Given the description of an element on the screen output the (x, y) to click on. 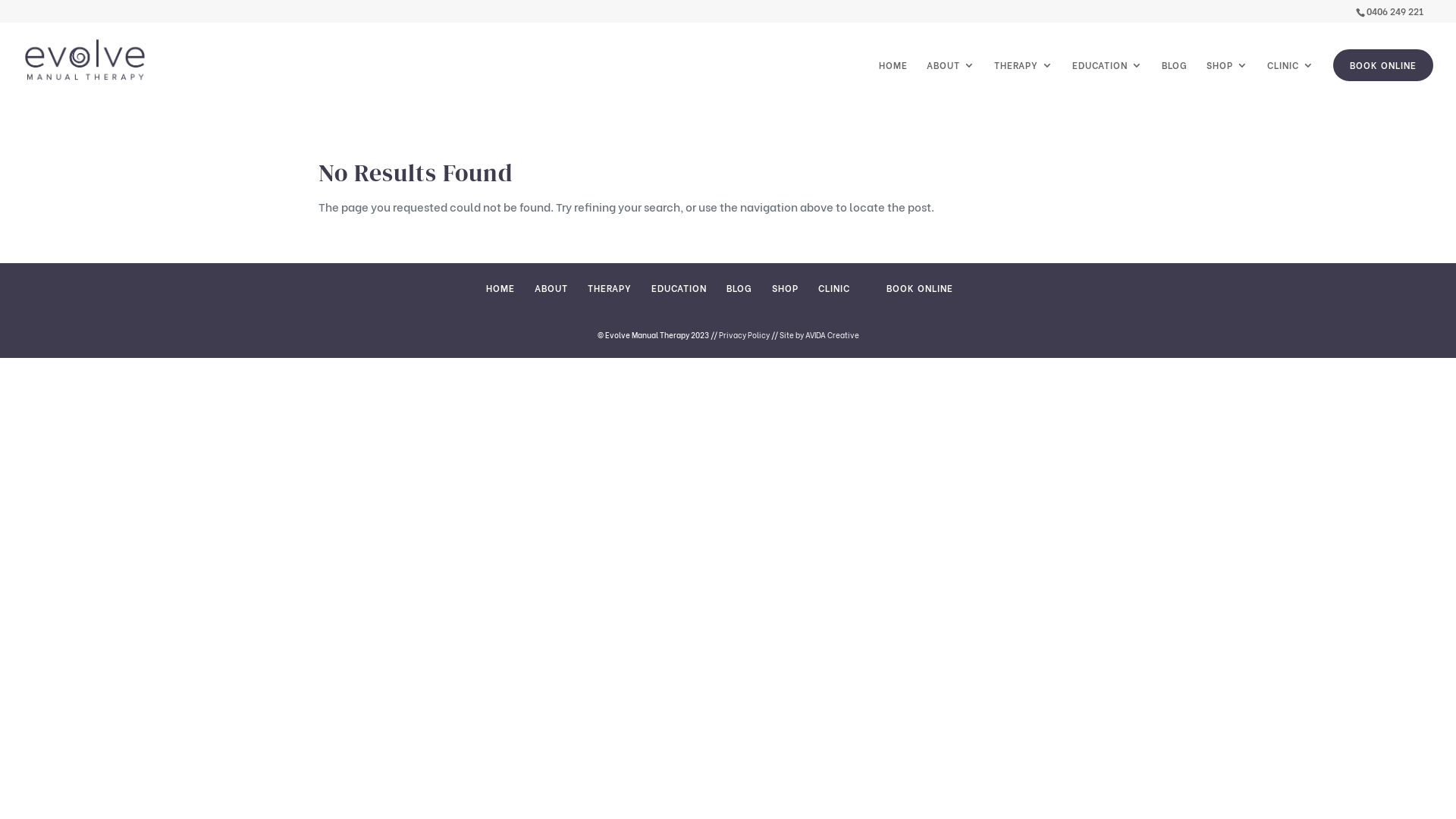
CLINIC Element type: text (1290, 78)
BOOK ONLINE Element type: text (1382, 64)
EDUCATION Element type: text (1107, 78)
ABOUT Element type: text (950, 78)
EDUCATION Element type: text (678, 287)
THERAPY Element type: text (609, 287)
SHOP Element type: text (784, 287)
BOOK ONLINE Element type: text (919, 287)
Privacy Policy Element type: text (743, 334)
SHOP Element type: text (1227, 78)
CLINIC Element type: text (834, 287)
THERAPY Element type: text (1023, 78)
HOME Element type: text (500, 287)
BLOG Element type: text (1174, 78)
ABOUT Element type: text (550, 287)
Site by AVIDA Creative Element type: text (819, 334)
HOME Element type: text (892, 78)
BLOG Element type: text (739, 287)
0406 249 221 Element type: text (1394, 10)
